Given the description of an element on the screen output the (x, y) to click on. 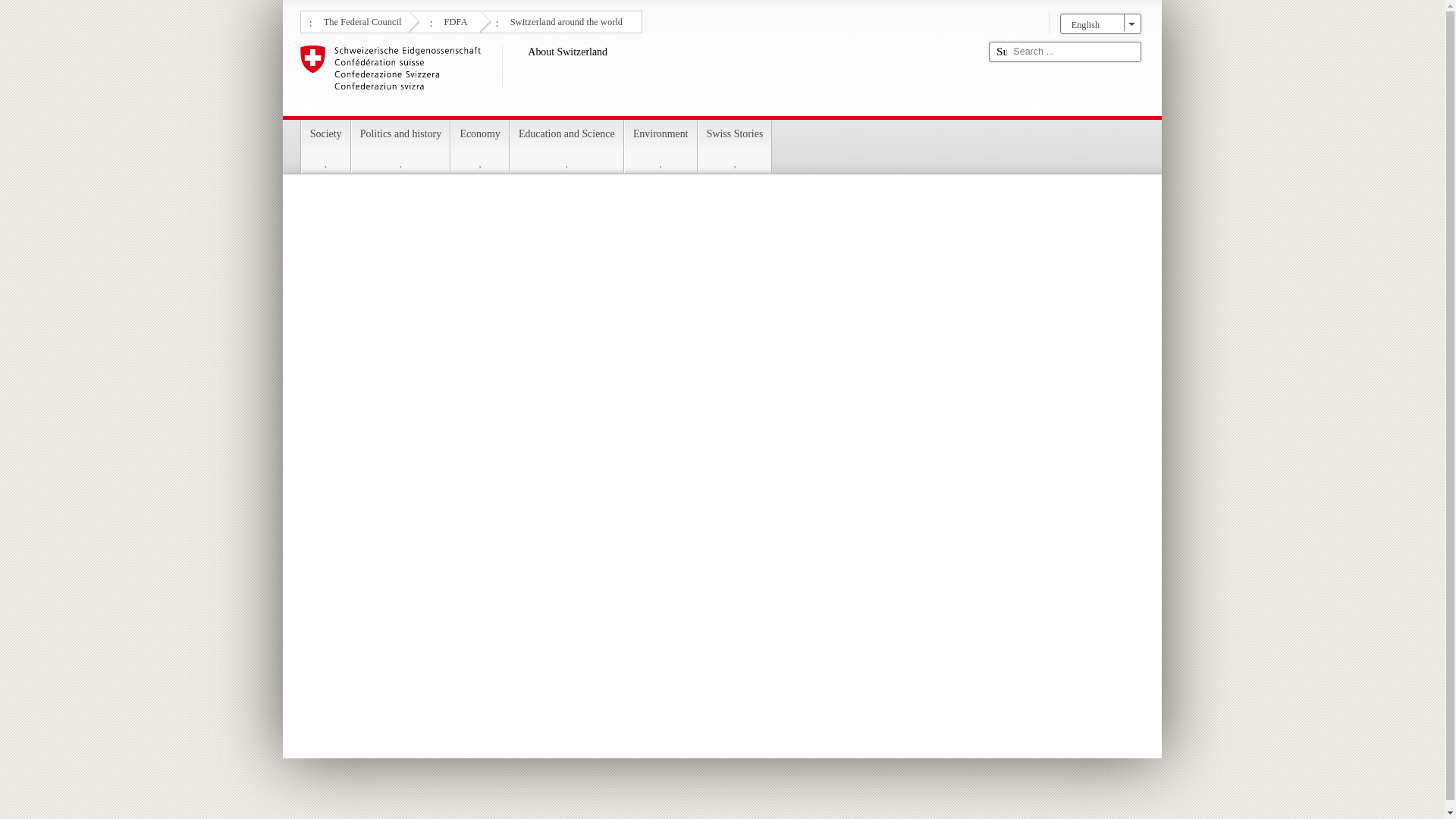
The Federal Council (360, 20)
Switzerland around the world (564, 20)
FDFA (454, 20)
About Switzerland (637, 76)
